Given the description of an element on the screen output the (x, y) to click on. 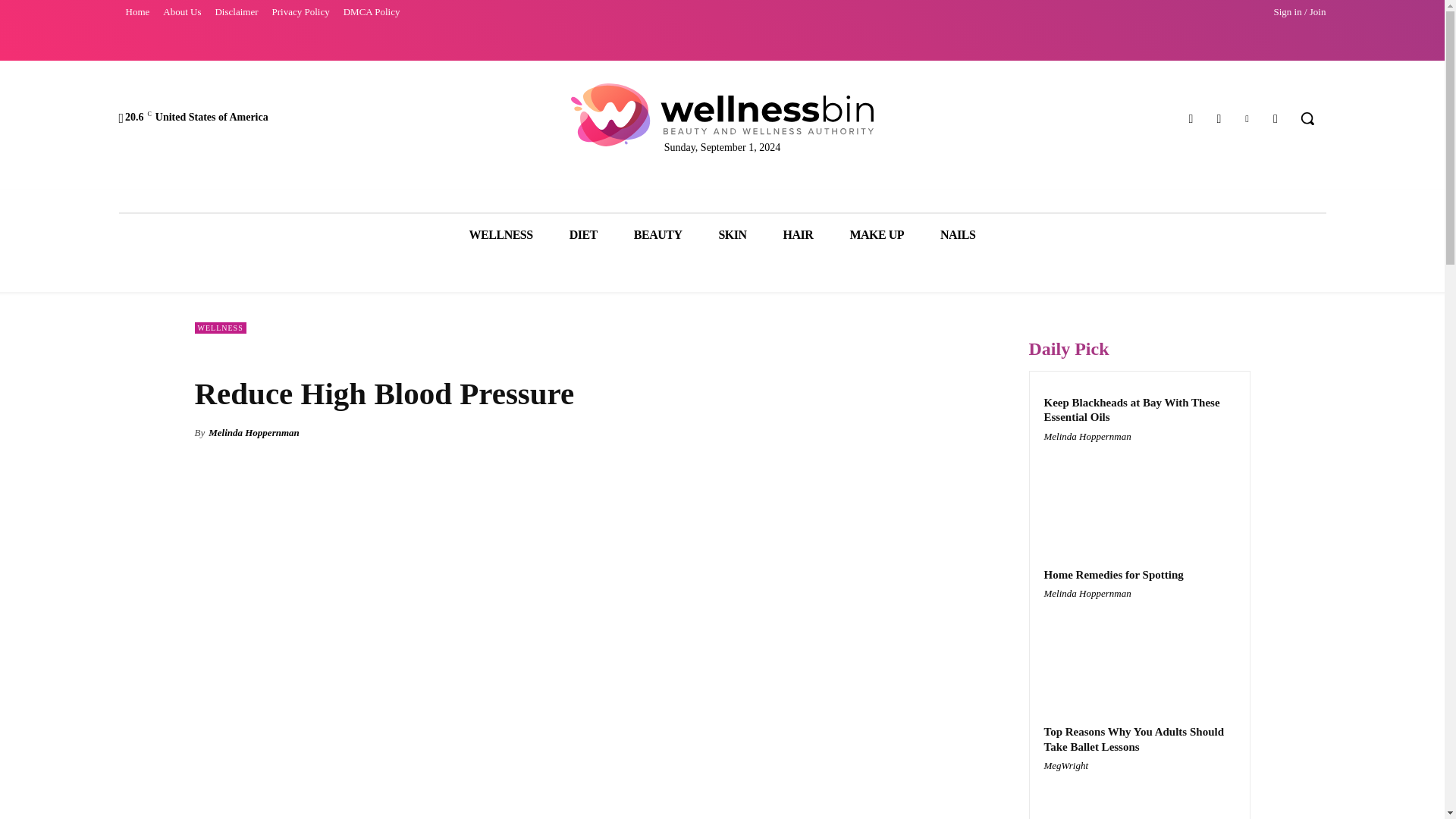
Facebook (1190, 118)
Pinterest (1246, 118)
SKIN (732, 234)
WELLNESS (501, 234)
DIET (583, 234)
Twitter (1275, 118)
Disclaimer (236, 12)
NAILS (956, 234)
MAKE UP (876, 234)
Home (136, 12)
